Given the description of an element on the screen output the (x, y) to click on. 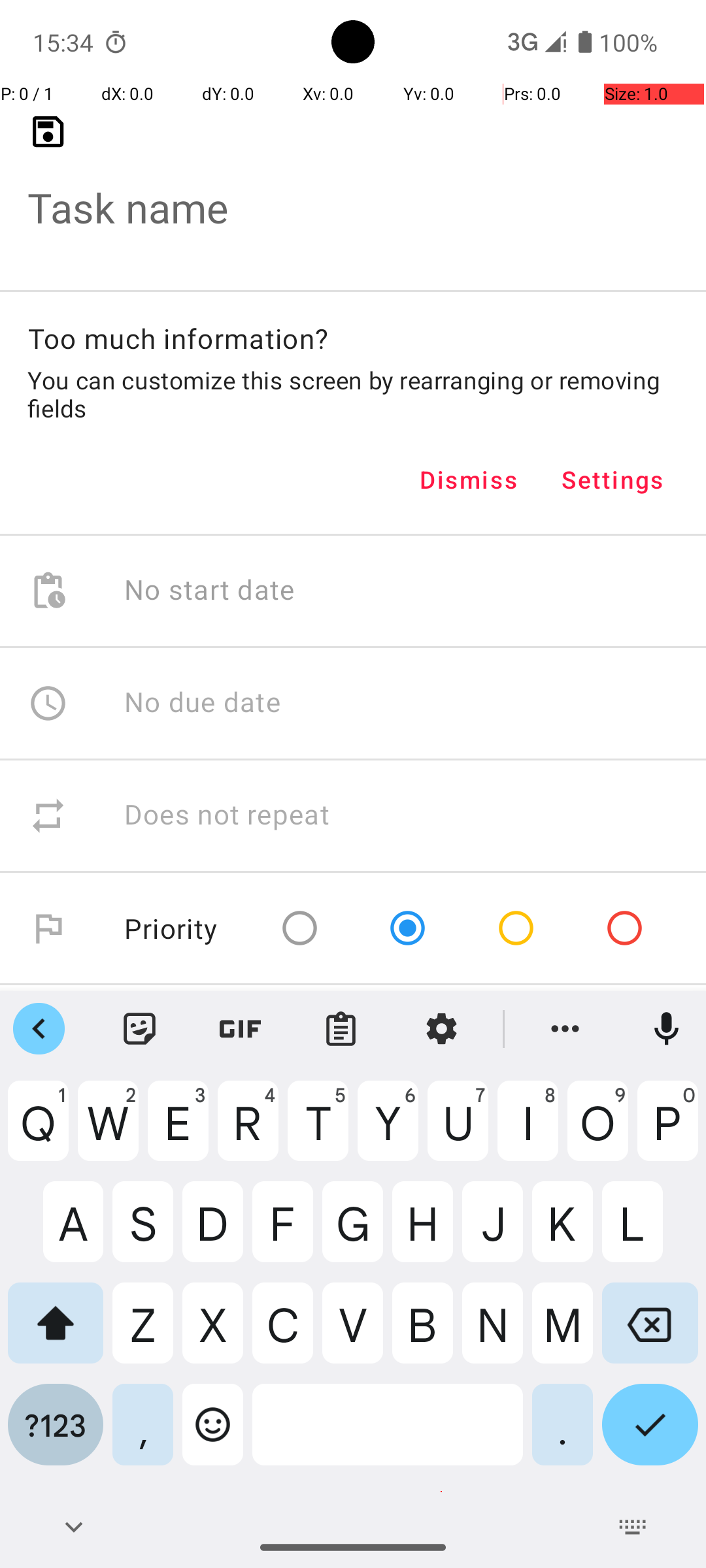
Task name Element type: android.widget.EditText (353, 186)
Too much information? Element type: android.widget.TextView (178, 337)
You can customize this screen by rearranging or removing fields Element type: android.widget.TextView (352, 393)
Dismiss Element type: android.widget.TextView (468, 479)
No due date Element type: android.widget.TextView (202, 702)
No start date Element type: android.widget.TextView (209, 590)
Does not repeat Element type: android.widget.TextView (226, 815)
